Given the description of an element on the screen output the (x, y) to click on. 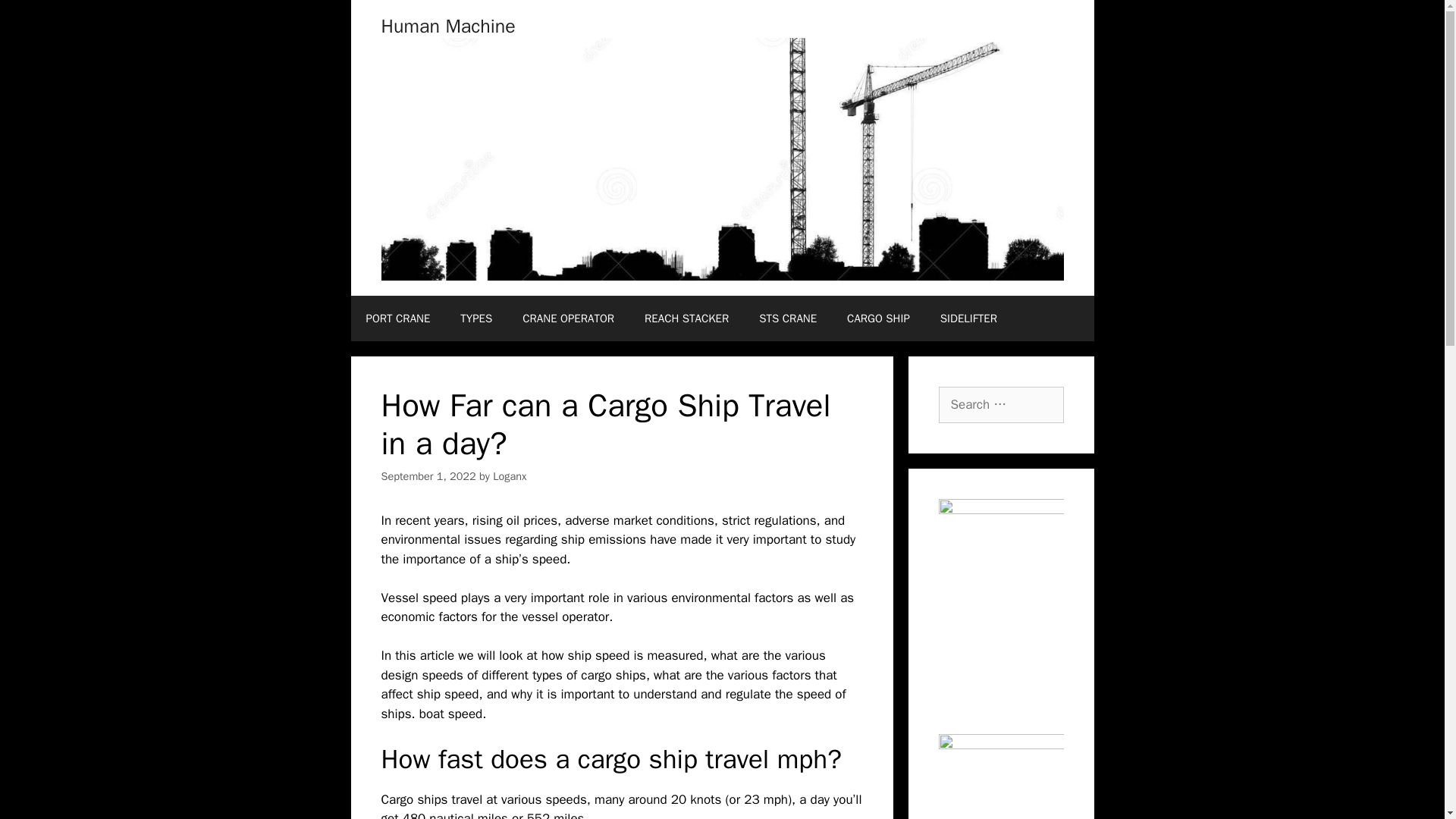
PORT CRANE (397, 318)
View all posts by Loganx (509, 476)
CARGO SHIP (877, 318)
SIDELIFTER (967, 318)
Search for: (1001, 404)
Human Machine (447, 25)
TYPES (475, 318)
STS CRANE (787, 318)
Loganx (509, 476)
Search (35, 18)
